Given the description of an element on the screen output the (x, y) to click on. 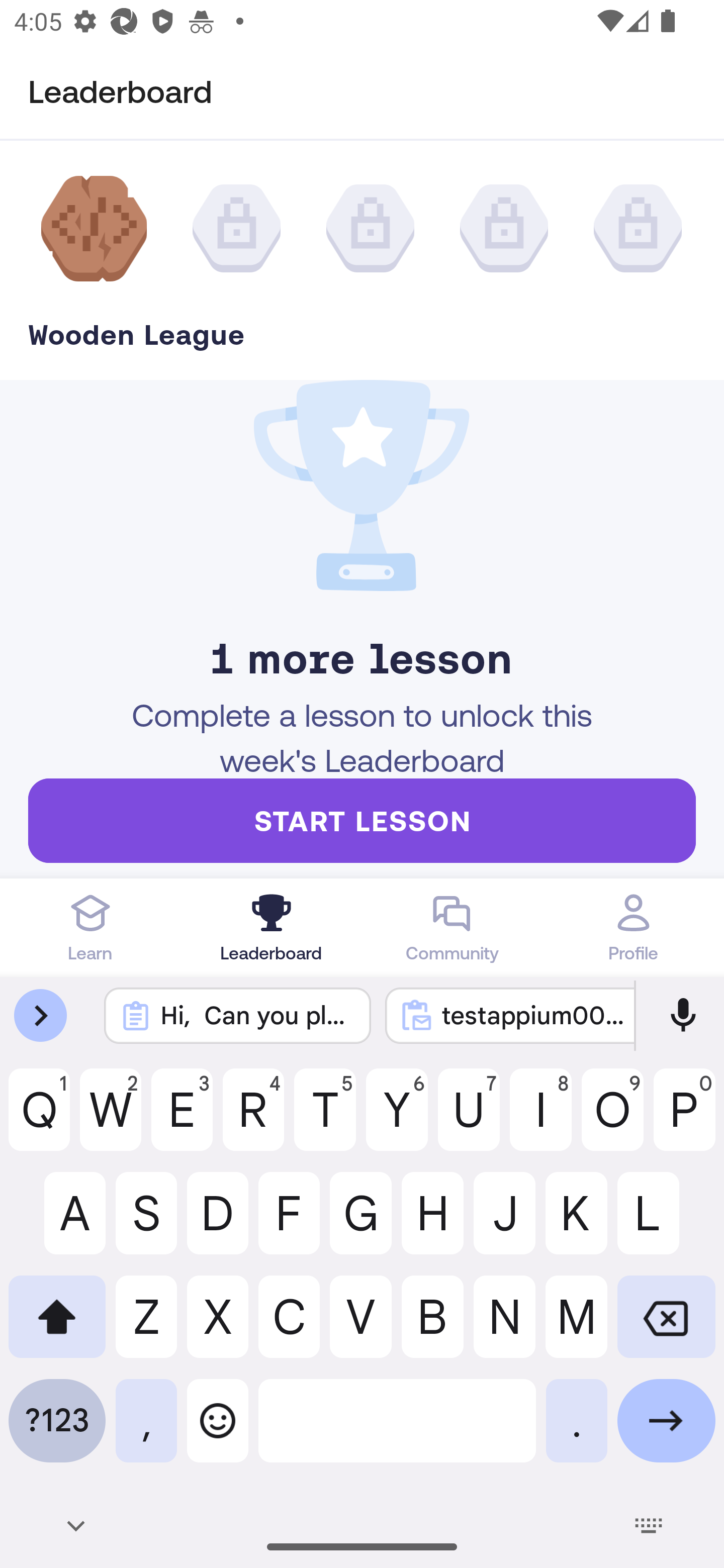
START LESSON (361, 819)
Learn (90, 927)
Community (452, 927)
Profile (633, 927)
